Given the description of an element on the screen output the (x, y) to click on. 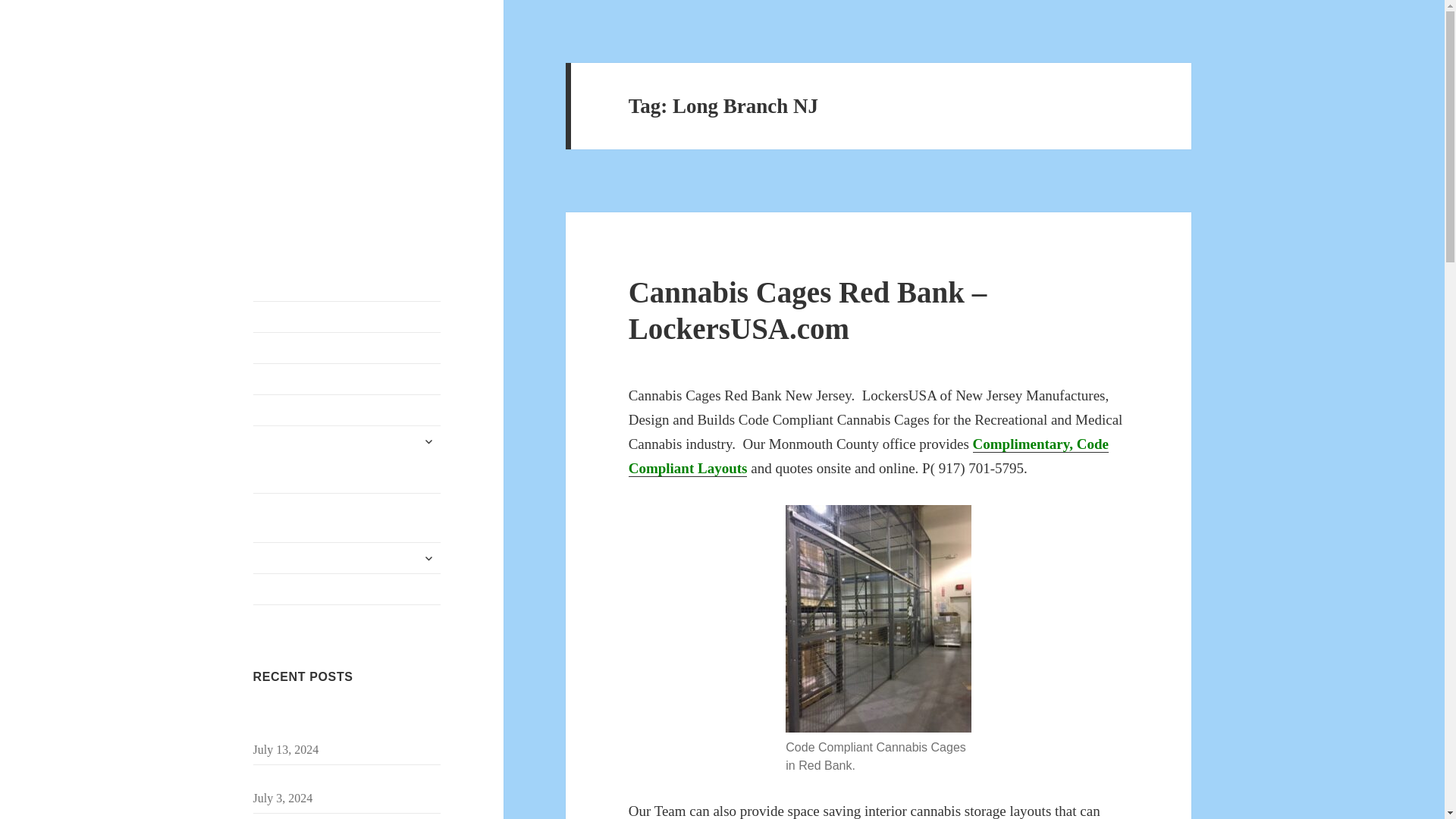
Building Access Cages (347, 409)
LockersUSA (314, 74)
Lockers NJ (347, 589)
Security Storage Cage Monmouth County (336, 721)
Tenant Storage Cages Elizabeth NJ (338, 779)
Machine Guarding Cages (347, 557)
Complimentary, Code Compliant Layouts (868, 455)
expand child menu (428, 558)
Tenant Storage Cages NYC (347, 317)
DEA Cannabis Storage Cages NJ (347, 378)
expand child menu (428, 441)
Machine Guarding Cages (347, 557)
